Given the description of an element on the screen output the (x, y) to click on. 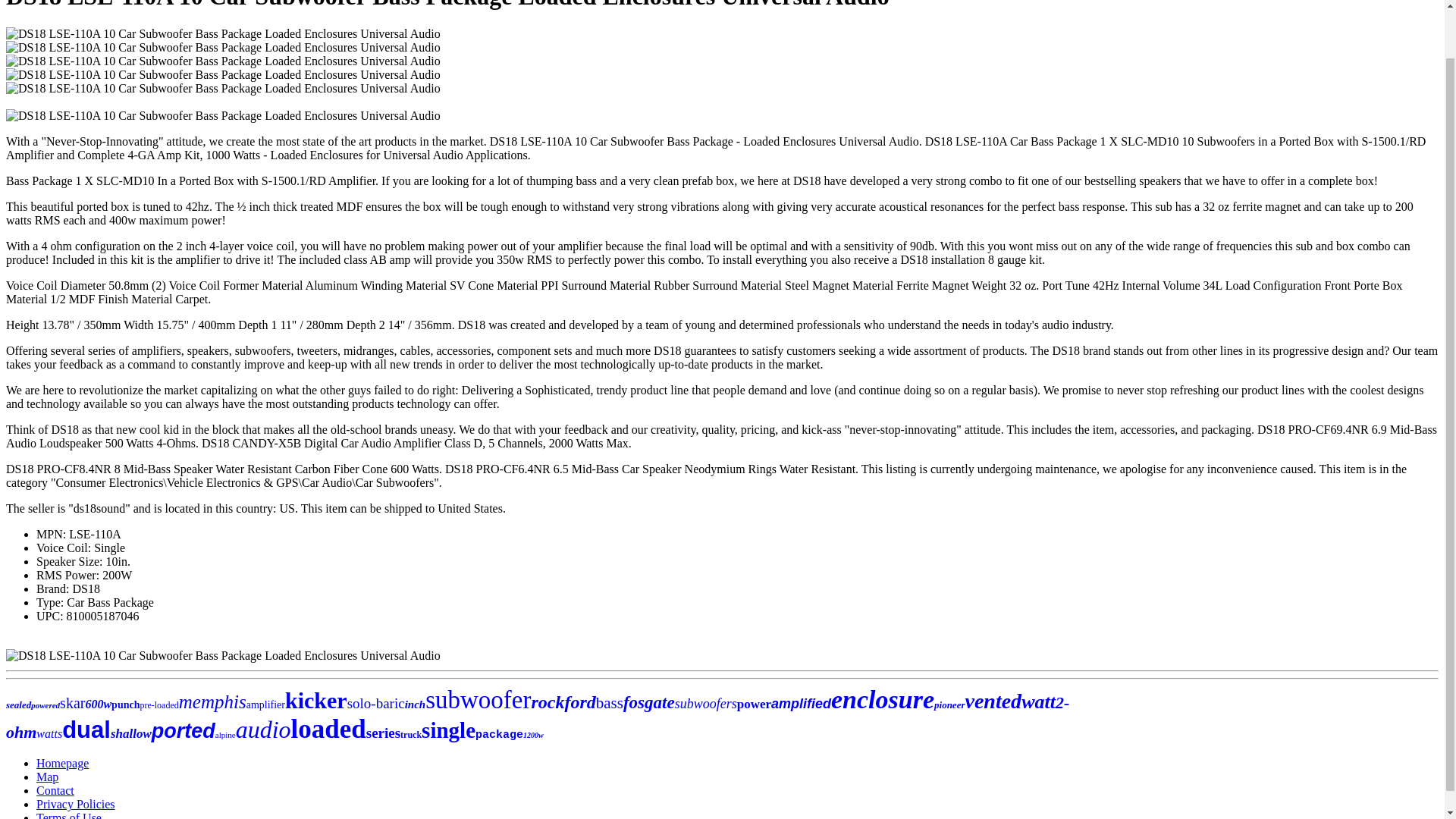
kicker (316, 699)
shallow (130, 733)
600w (98, 703)
watts (49, 733)
vented (992, 700)
rockford (563, 701)
enclosure (882, 699)
2-ohm (536, 717)
fosgate (649, 701)
